Given the description of an element on the screen output the (x, y) to click on. 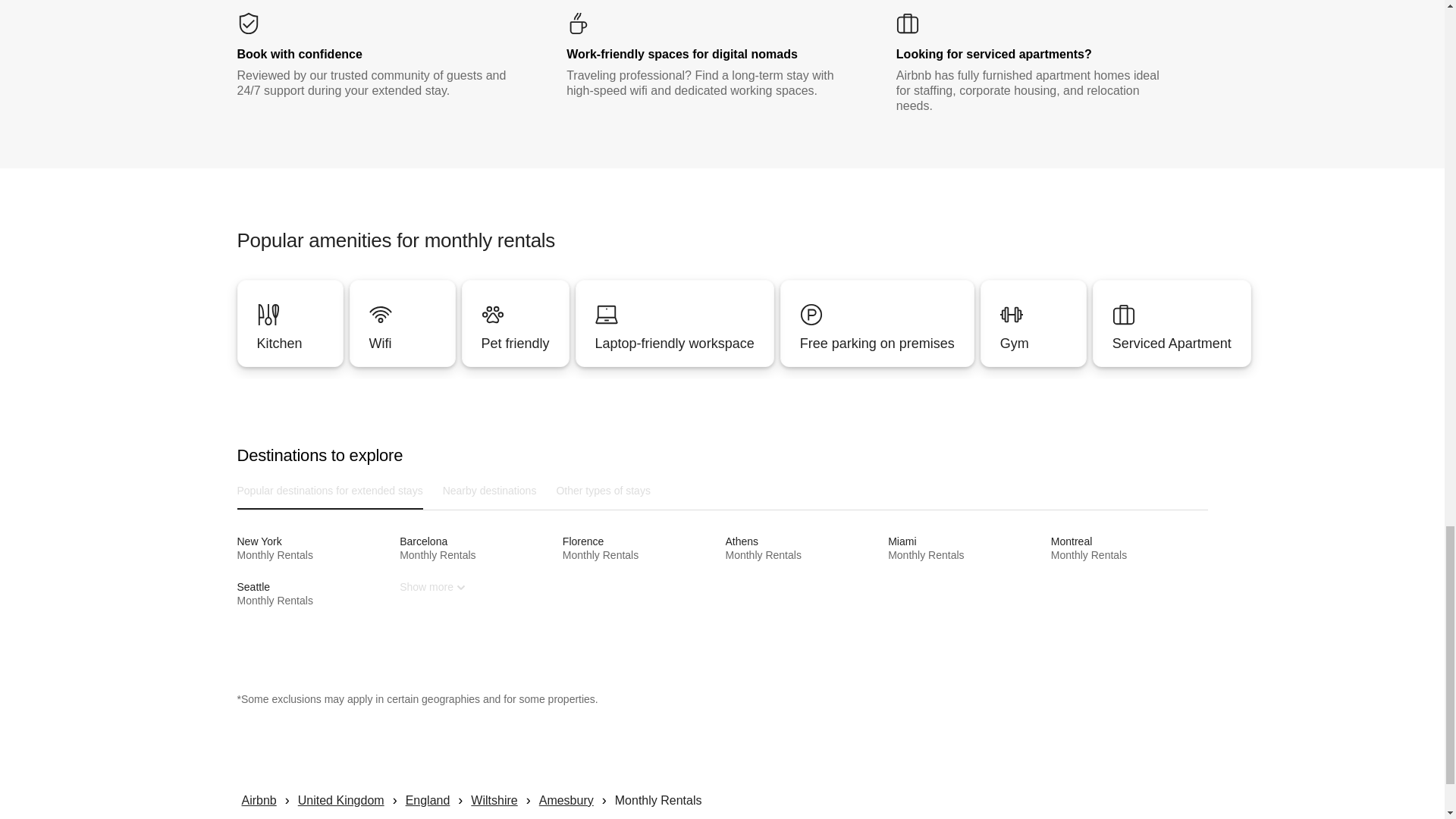
Kitchen (288, 323)
Nearby destinations (489, 490)
Gym (1129, 547)
Free parking on premises (1033, 343)
Wifi (877, 323)
Laptop-friendly workspace (401, 323)
Laptop-friendly workspace (640, 547)
Gym (674, 343)
